Given the description of an element on the screen output the (x, y) to click on. 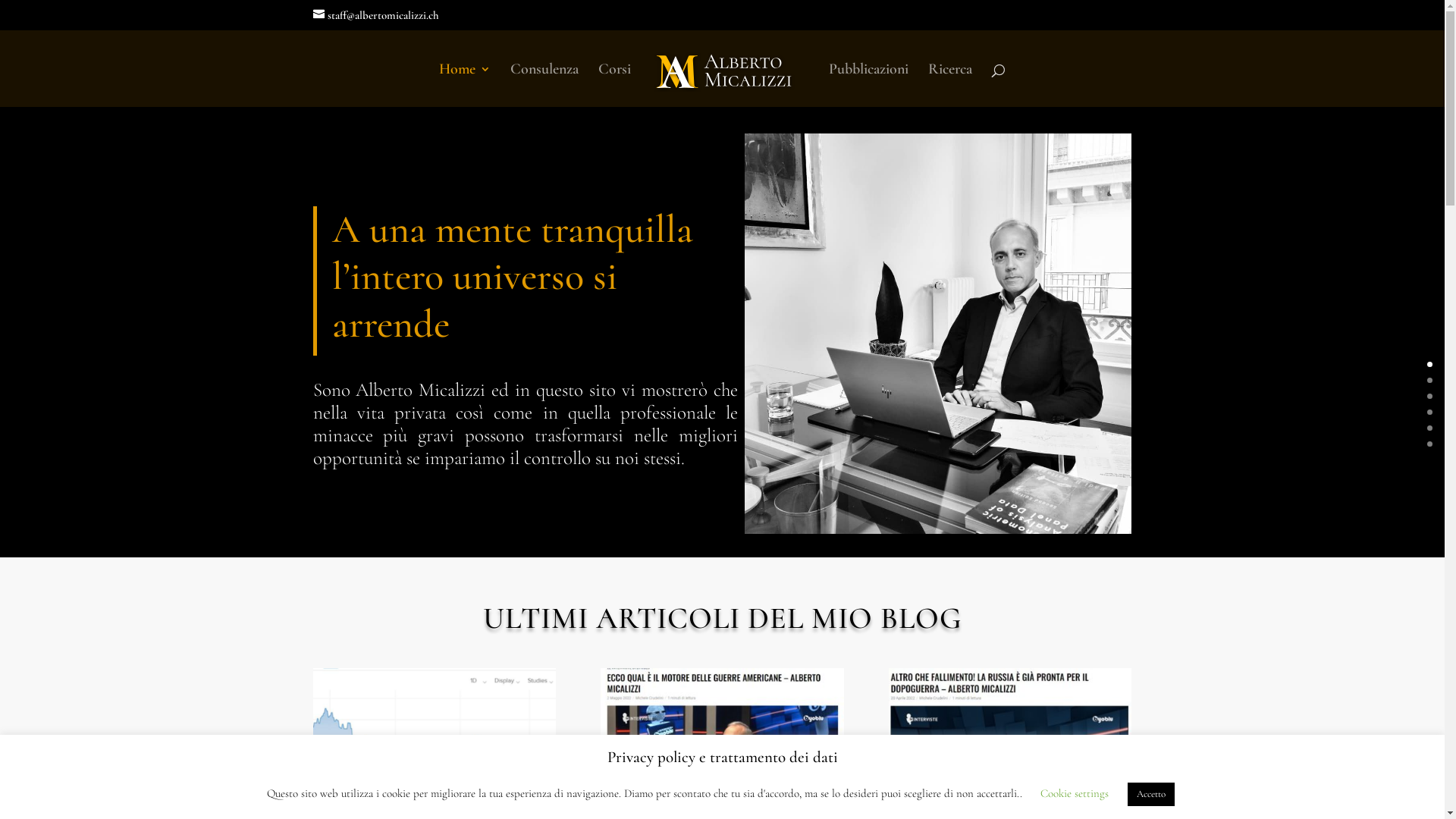
1 Element type: text (1429, 379)
Pubblicazioni Element type: text (868, 84)
Cookie settings Element type: text (1074, 793)
0 Element type: text (1429, 364)
Accetto Element type: text (1149, 794)
5 Element type: text (1429, 443)
Home Element type: text (464, 84)
Ricerca Element type: text (950, 84)
Consulenza Element type: text (544, 84)
staff@albertomicalizzi.ch Element type: text (375, 14)
2 Element type: text (1429, 395)
Corsi Element type: text (614, 84)
4 Element type: text (1429, 427)
3 Element type: text (1429, 411)
